Given the description of an element on the screen output the (x, y) to click on. 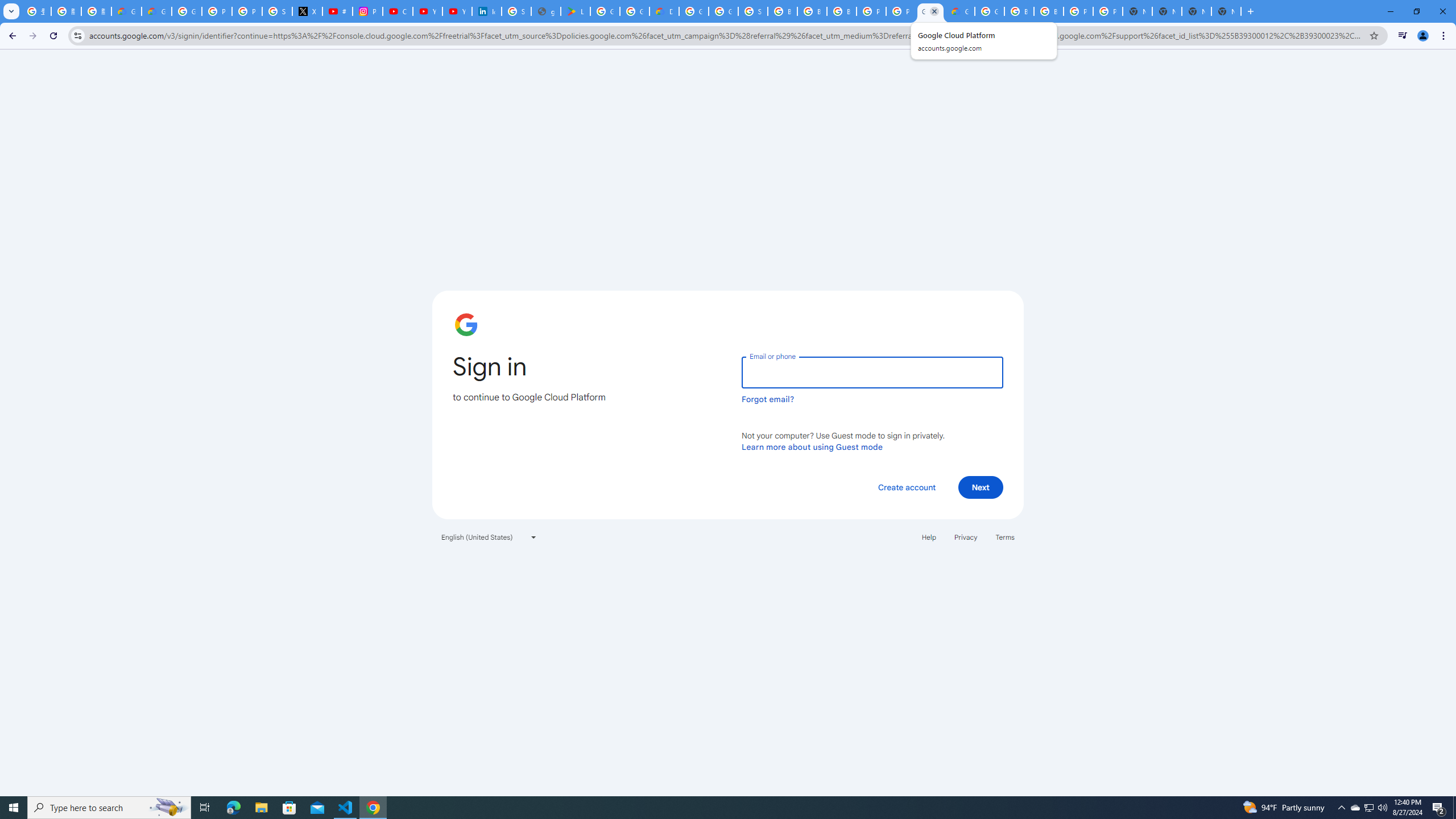
X (306, 11)
Privacy Help Center - Policies Help (247, 11)
Google Cloud Platform (930, 11)
Email or phone (871, 372)
